Given the description of an element on the screen output the (x, y) to click on. 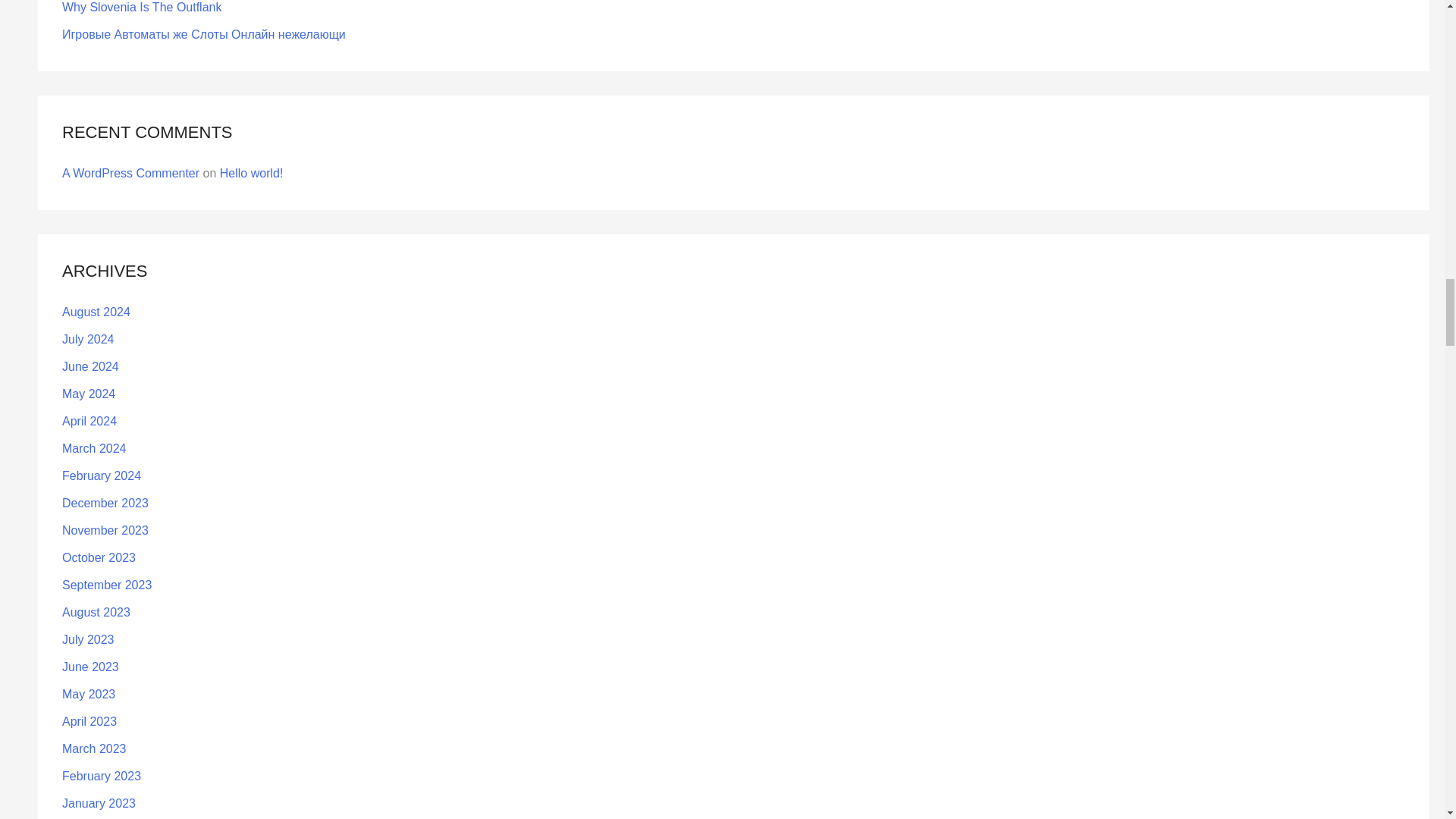
Why Slovenia Is The Outflank (141, 6)
August 2024 (96, 311)
June 2024 (90, 366)
A WordPress Commenter (130, 173)
July 2024 (88, 338)
Hello world! (251, 173)
